Given the description of an element on the screen output the (x, y) to click on. 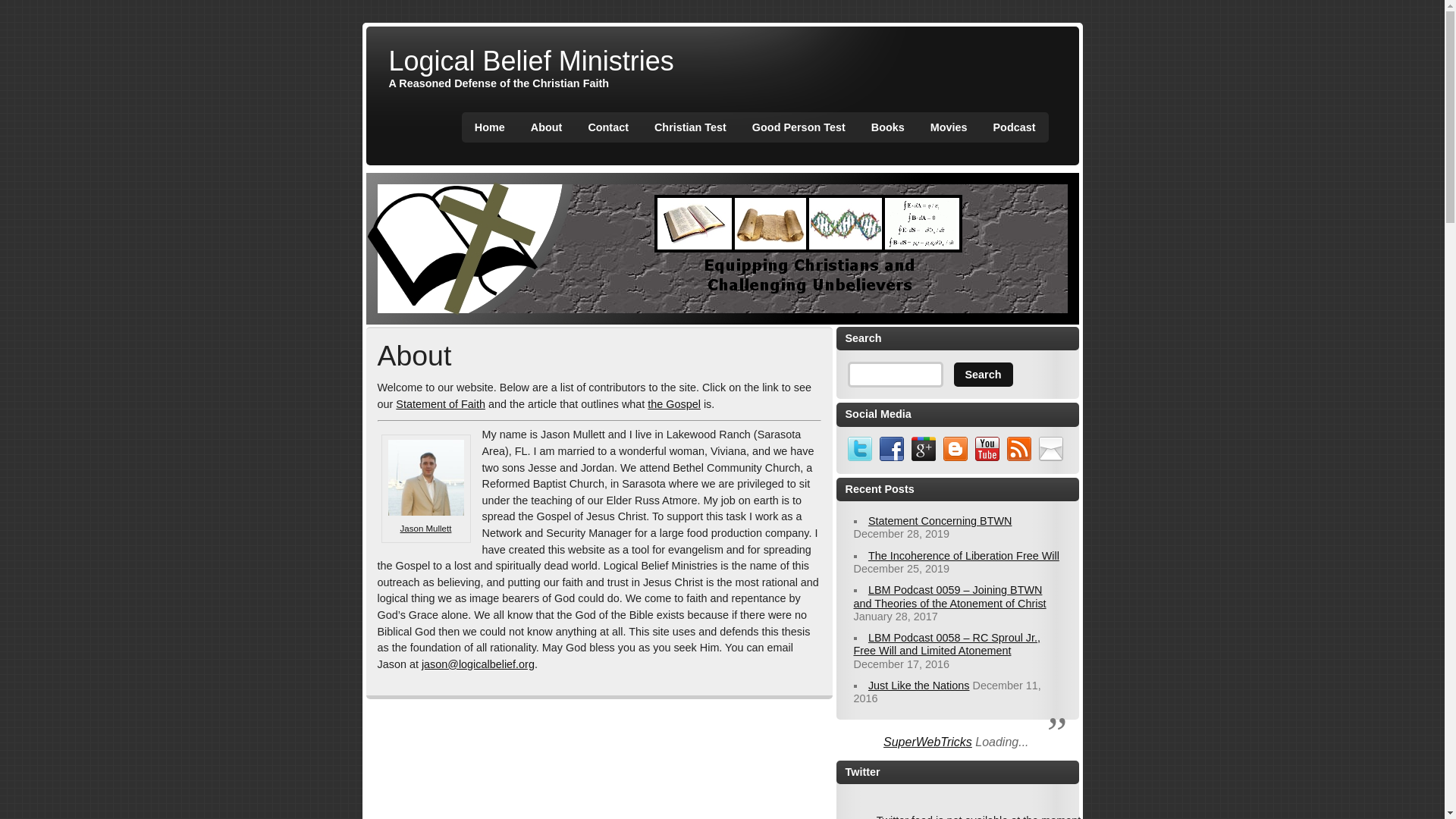
Christian Test (690, 127)
Movies (948, 127)
the Gospel (673, 404)
Just Like the Nations (918, 685)
Statement Concerning BTWN (939, 521)
Home (489, 127)
The Incoherence of Liberation Free Will (963, 555)
Statement of Faith (440, 404)
Search (983, 374)
Jason Mullett (425, 528)
